Given the description of an element on the screen output the (x, y) to click on. 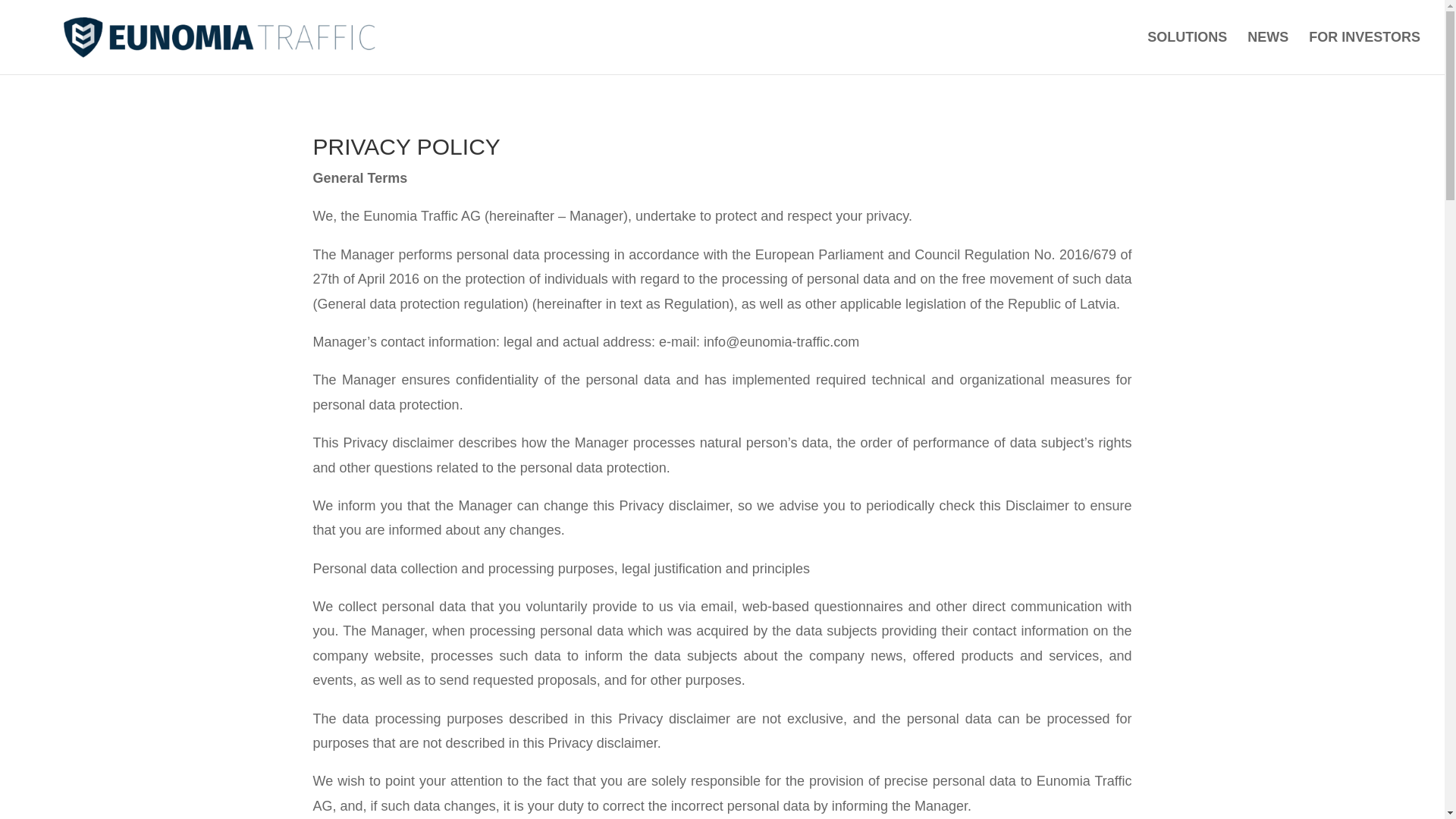
SOLUTIONS (1187, 52)
NEWS (1267, 52)
FOR INVESTORS (1364, 52)
